Given the description of an element on the screen output the (x, y) to click on. 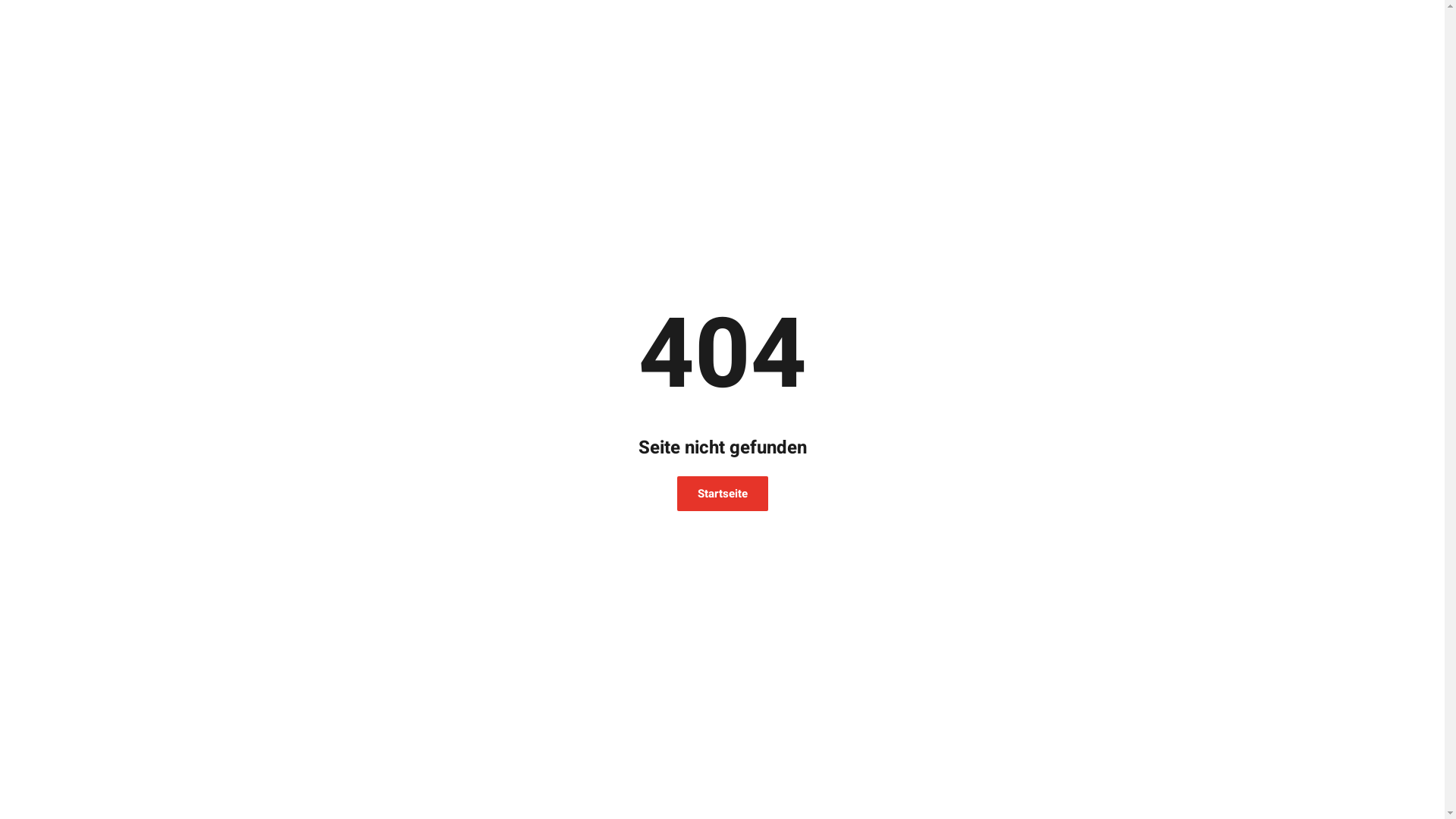
Startseite Element type: text (721, 493)
